Given the description of an element on the screen output the (x, y) to click on. 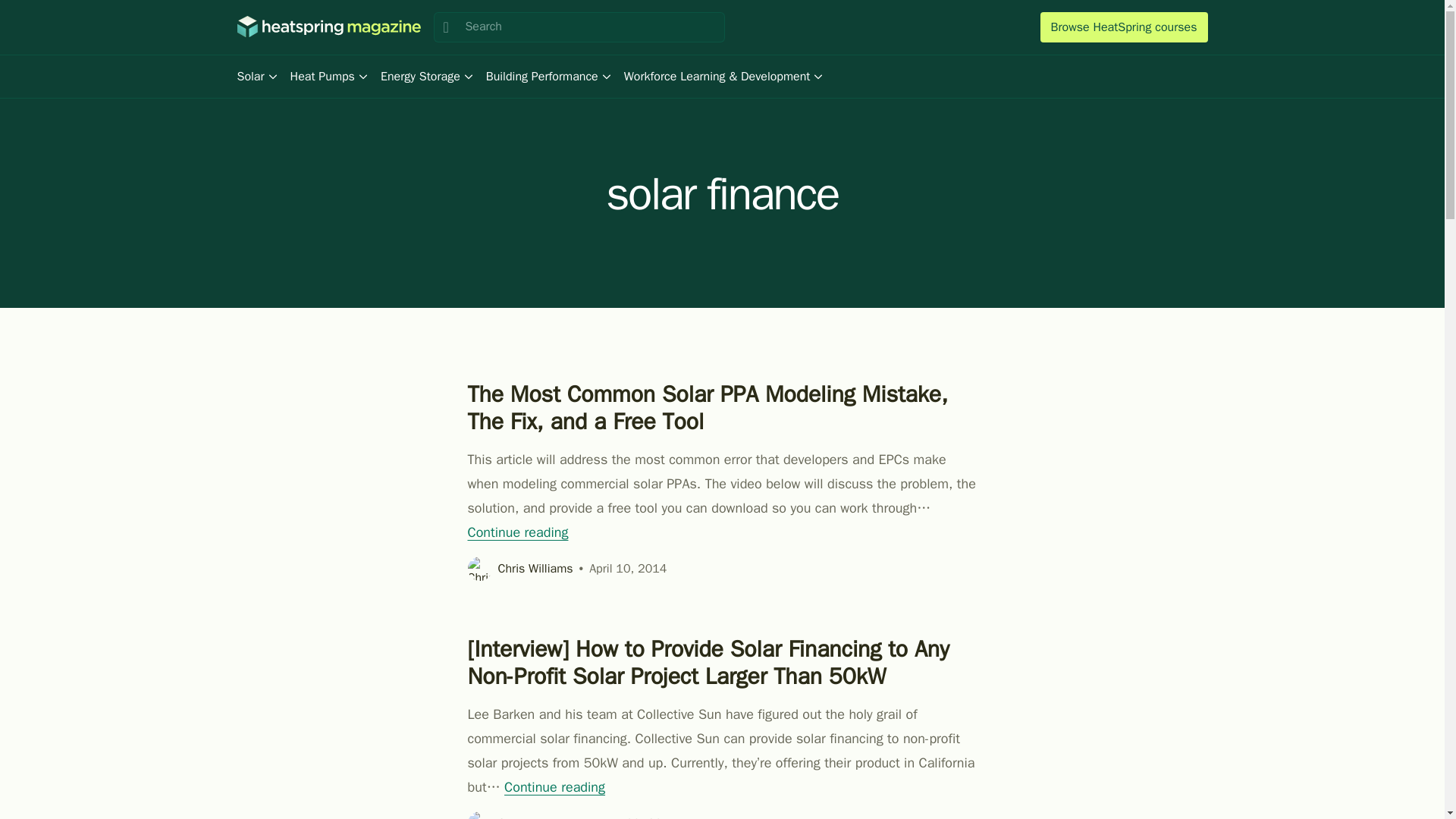
Browse HeatSpring courses (1124, 27)
Building Performance (548, 76)
Heat Pumps (328, 76)
Solar (256, 76)
Energy Storage (427, 76)
